Given the description of an element on the screen output the (x, y) to click on. 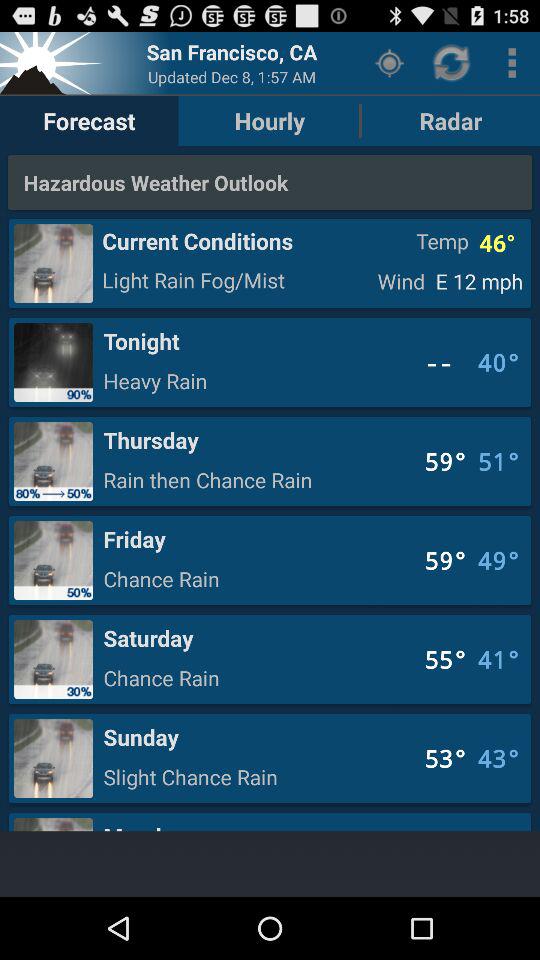
choose the item next to the hourly item (89, 120)
